Given the description of an element on the screen output the (x, y) to click on. 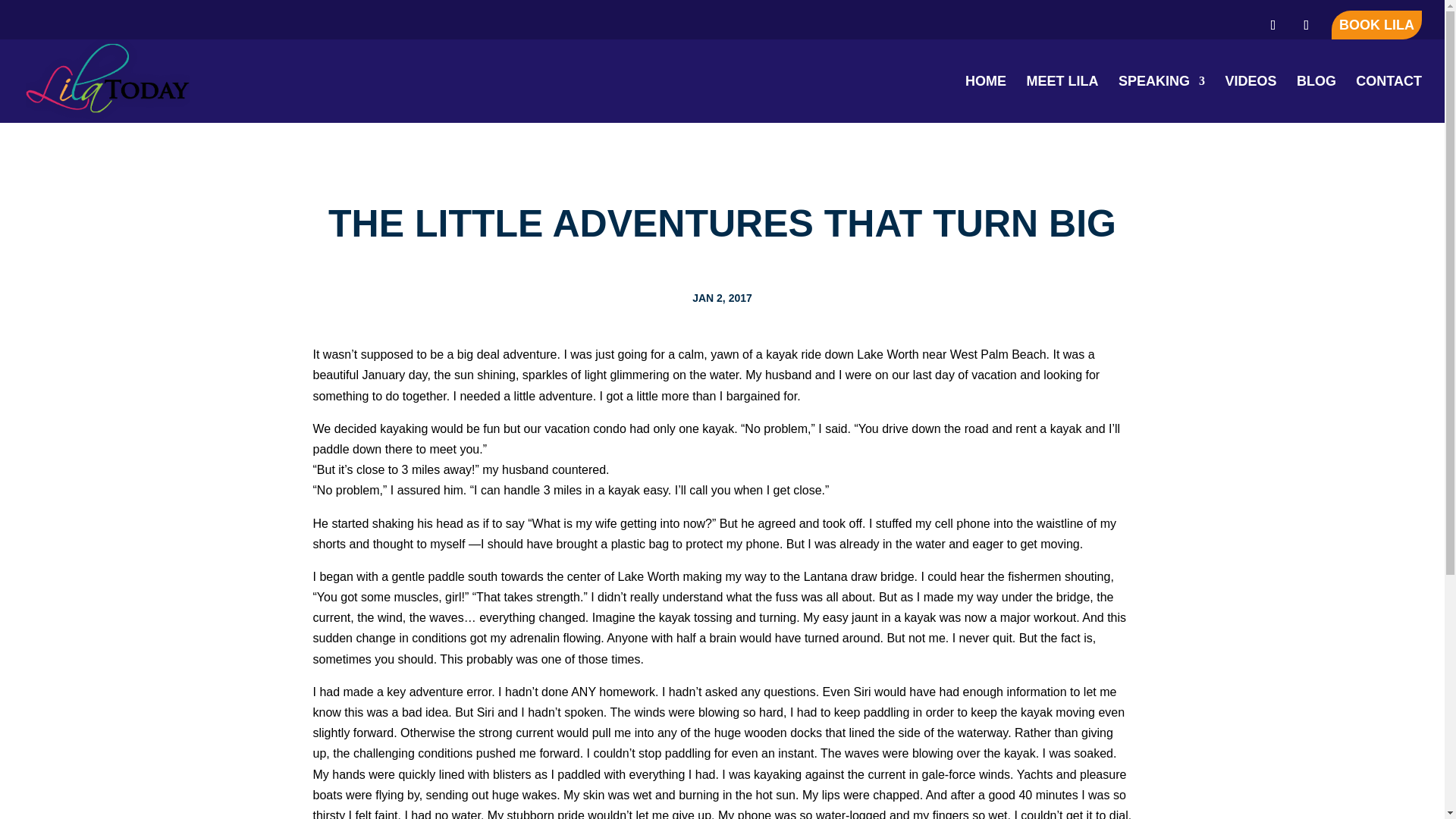
CONTACT (1388, 99)
MEET LILA (1061, 99)
VIDEOS (1250, 99)
BOOK LILA (1377, 24)
SPEAKING (1161, 99)
